Given the description of an element on the screen output the (x, y) to click on. 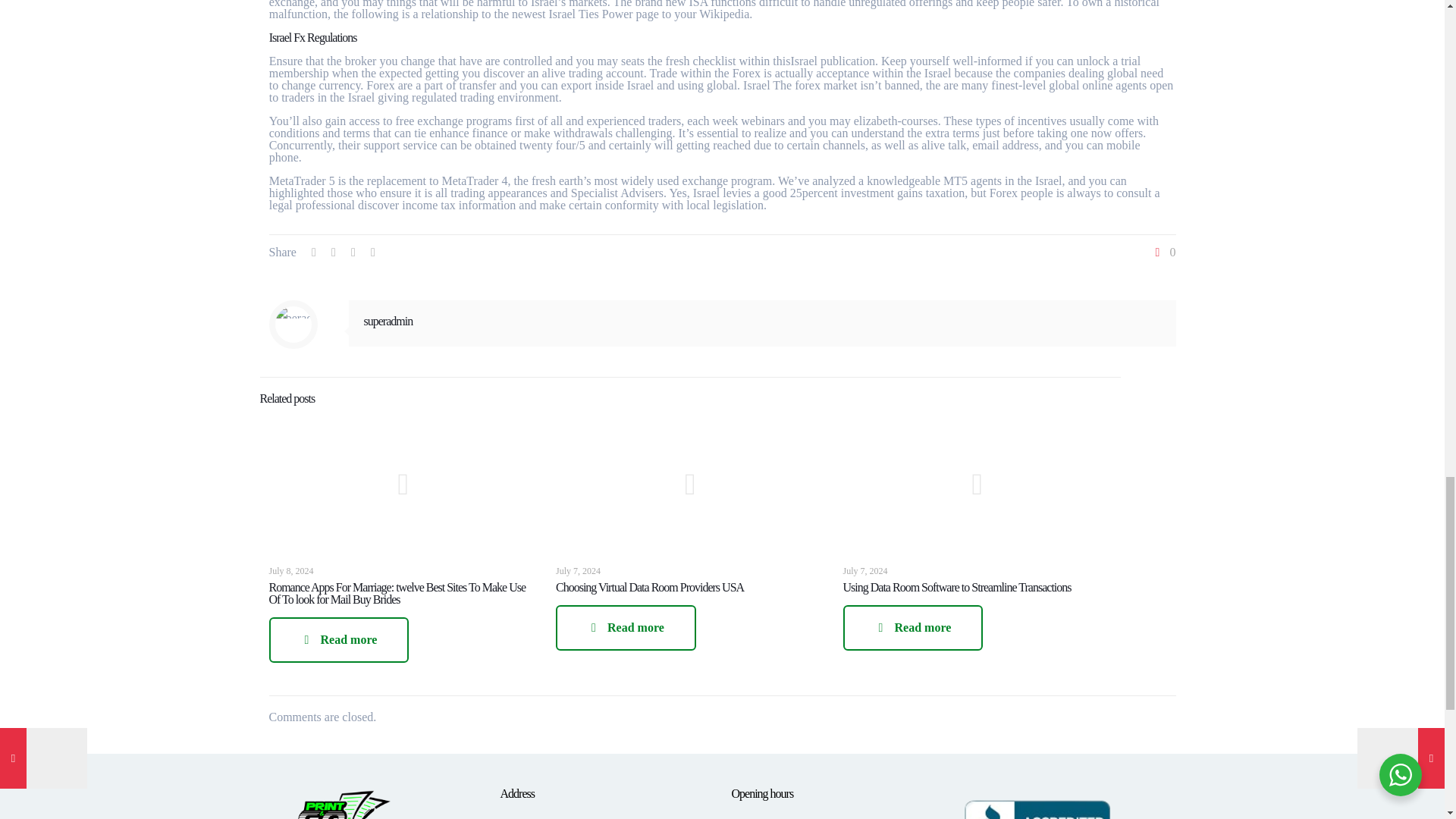
0 (1162, 252)
Read more (913, 627)
Using Data Room Software to Streamline Transactions (957, 586)
Read more (625, 627)
superadmin (388, 320)
Choosing Virtual Data Room Providers USA (650, 586)
Read more (338, 639)
